Given the description of an element on the screen output the (x, y) to click on. 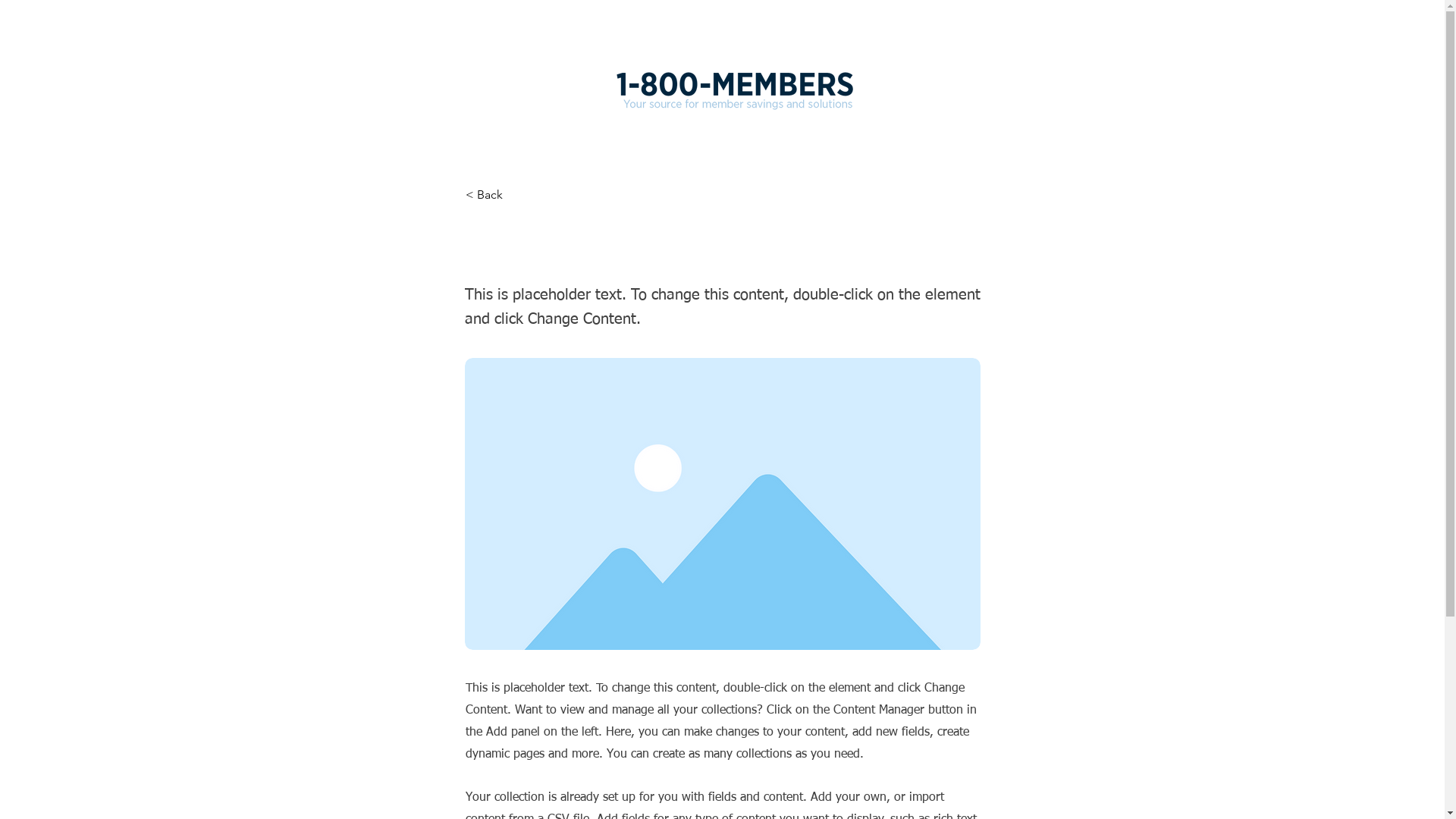
< Back Element type: text (515, 194)
Image-empty-state.png Element type: hover (721, 503)
